Given the description of an element on the screen output the (x, y) to click on. 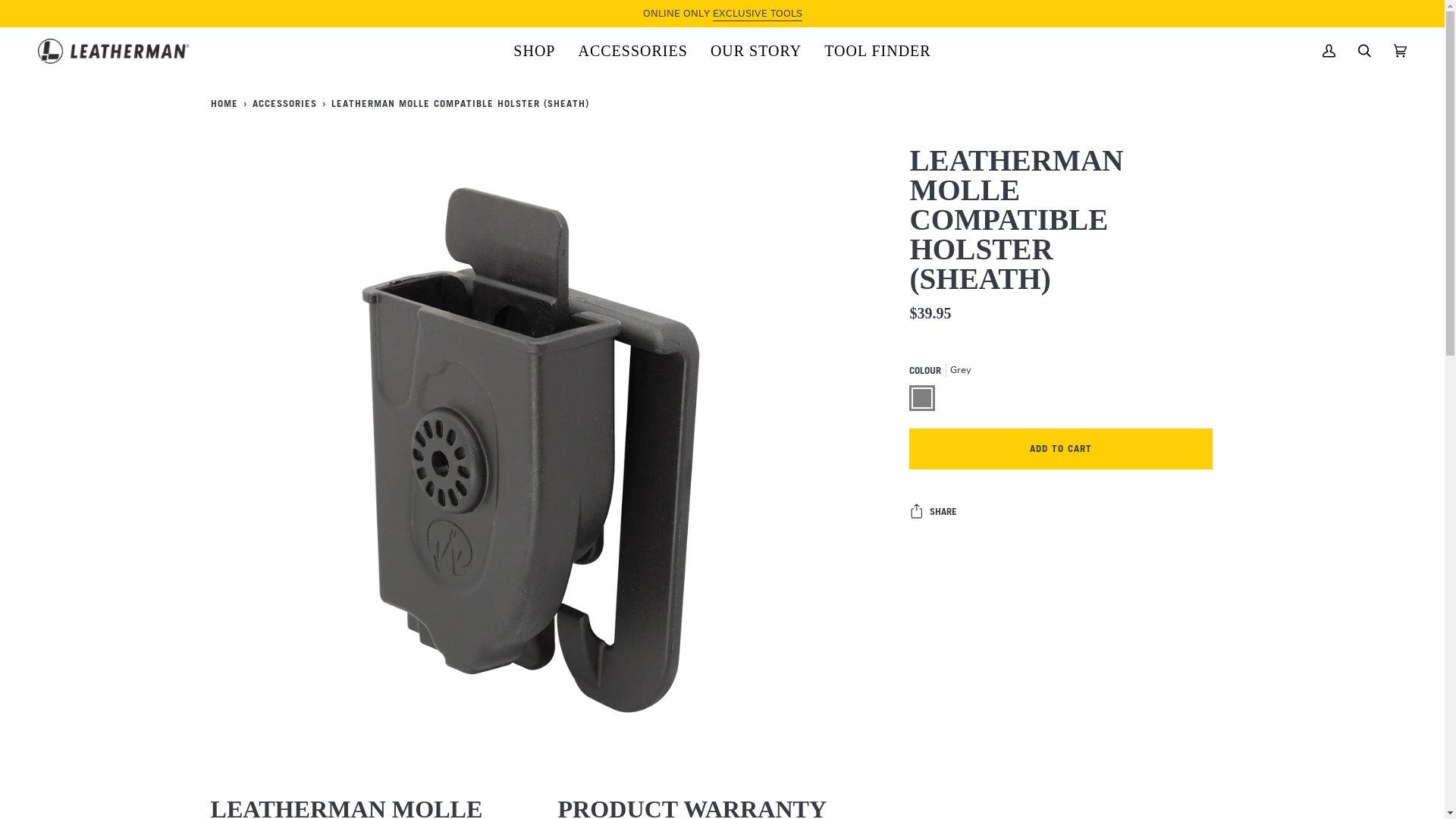
CART
(0) Element type: text (1400, 51)
TOOL FINDER Element type: text (876, 51)
OUR STORY Element type: text (755, 51)
ENGRAVE AND CUSTOMISE Element type: text (671, 13)
ACCESSORIES Element type: text (284, 102)
ADD TO CART Element type: text (1060, 448)
MY ACCOUNT Element type: text (1328, 51)
ACCESSORIES Element type: text (633, 51)
HOME Element type: text (224, 102)
SEARCH Element type: text (1364, 51)
SHOP Element type: text (534, 51)
